Given the description of an element on the screen output the (x, y) to click on. 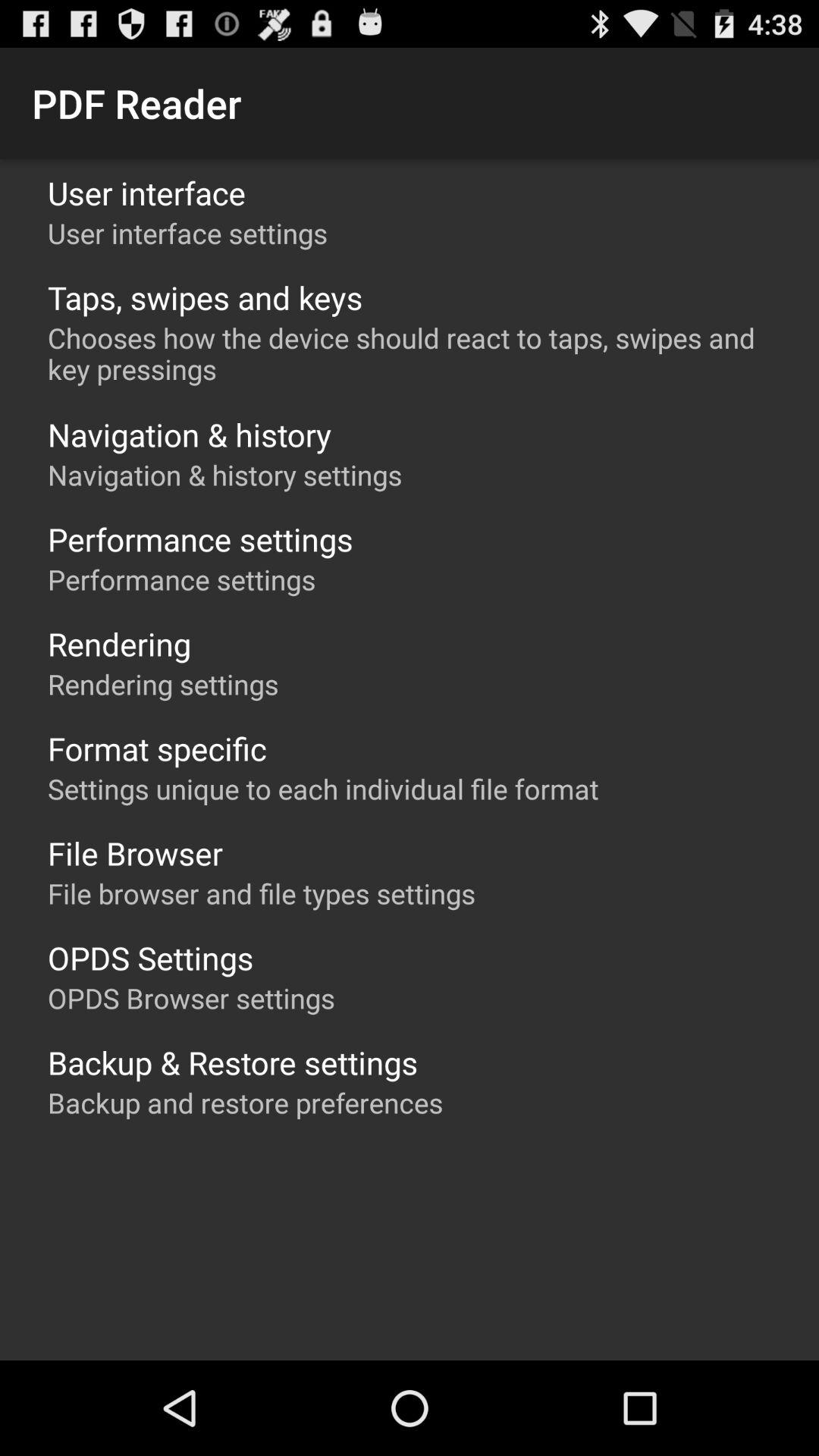
jump to settings unique to item (322, 788)
